Given the description of an element on the screen output the (x, y) to click on. 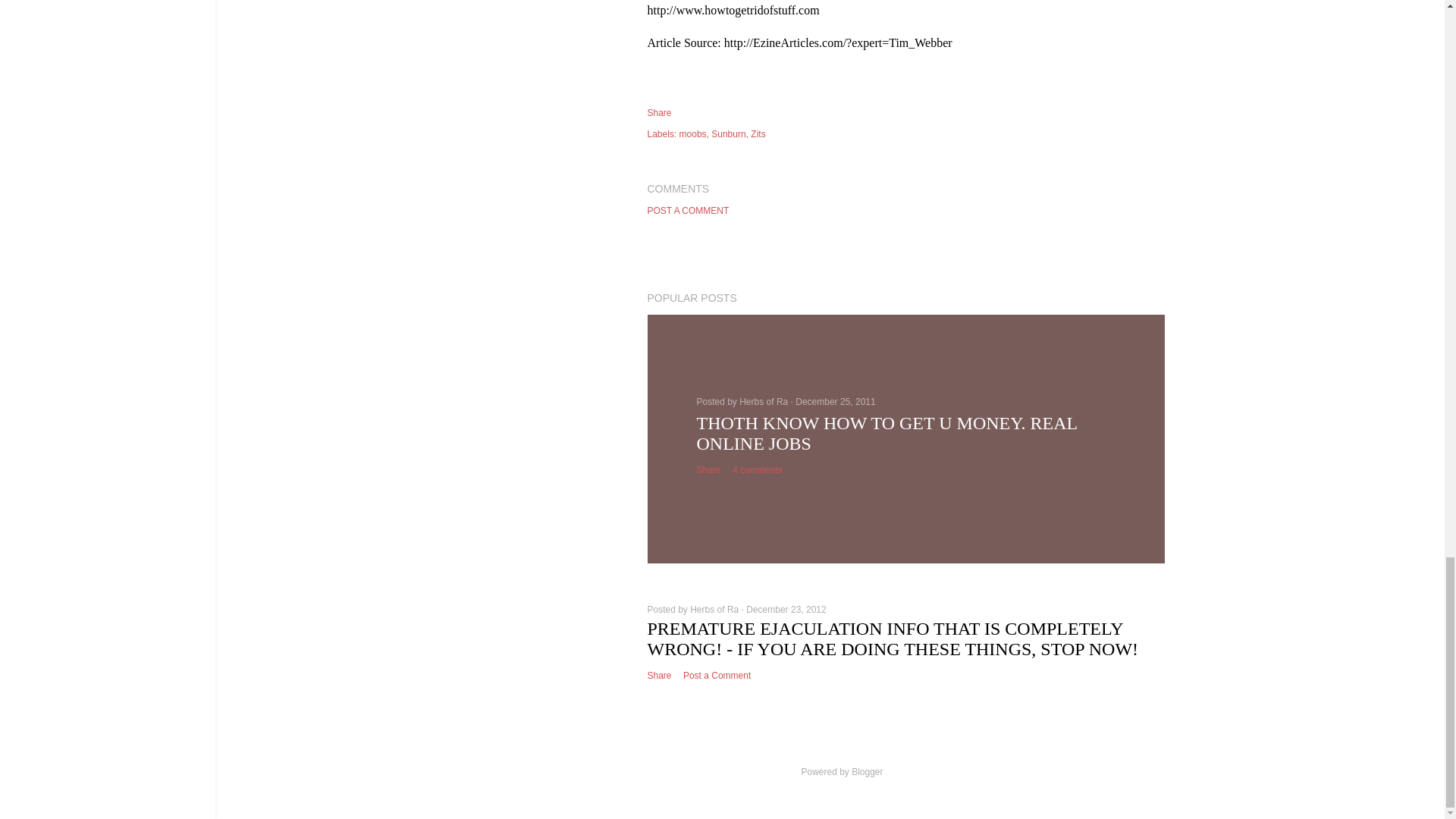
Herbs of Ra (715, 609)
Share (659, 675)
Herbs of Ra (764, 401)
4 comments (756, 470)
December 23, 2012 (785, 609)
POST A COMMENT (688, 210)
Share (707, 470)
Zits (758, 133)
Share (659, 112)
December 25, 2011 (834, 401)
Post a Comment (716, 675)
Sunburn (729, 133)
moobs (694, 133)
THOTH KNOW HOW TO GET U MONEY. REAL ONLINE JOBS (886, 433)
